Given the description of an element on the screen output the (x, y) to click on. 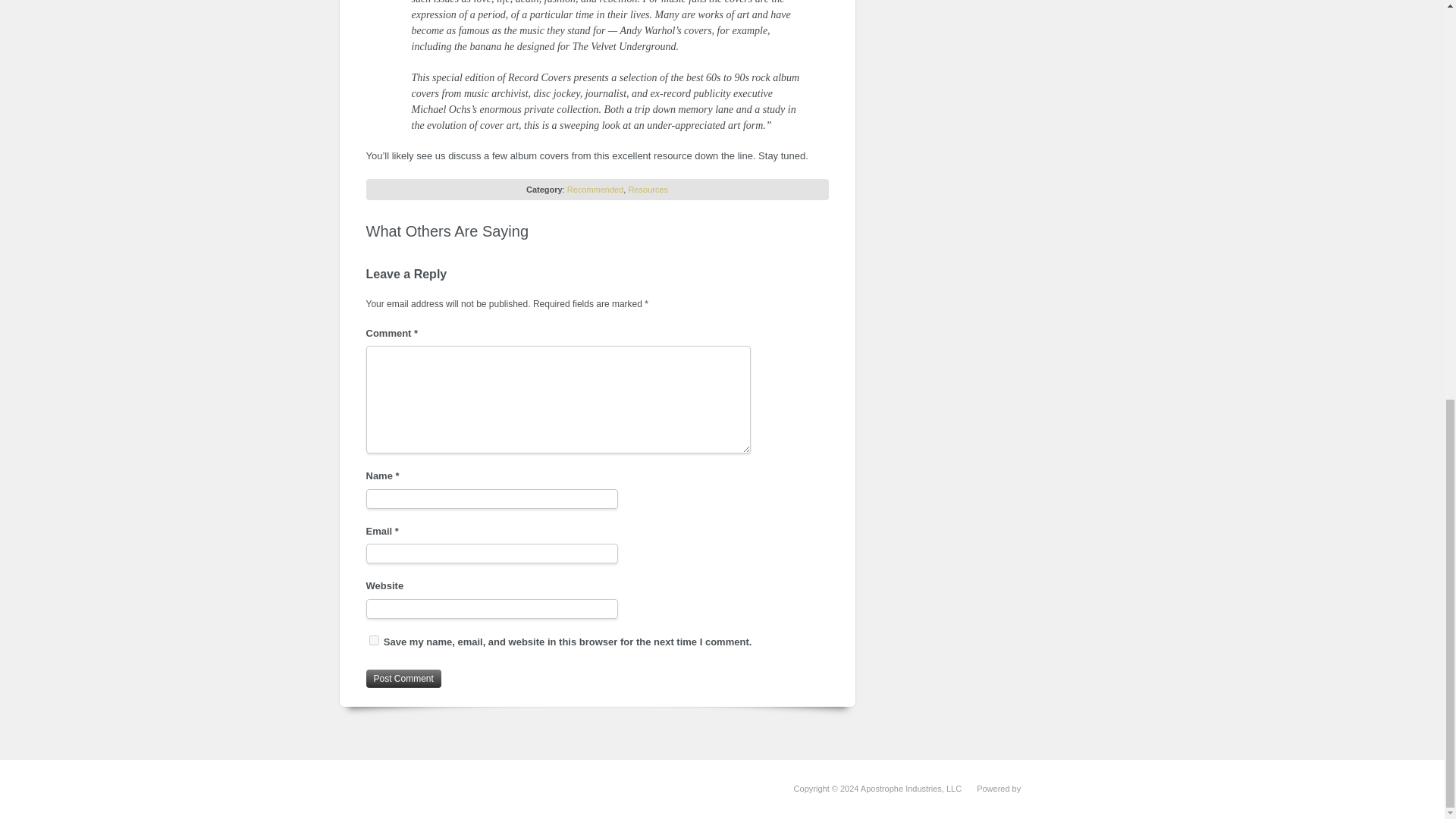
Resources (647, 189)
Recommended (595, 189)
yes (373, 640)
Post Comment (403, 678)
Post Comment (403, 678)
